Given the description of an element on the screen output the (x, y) to click on. 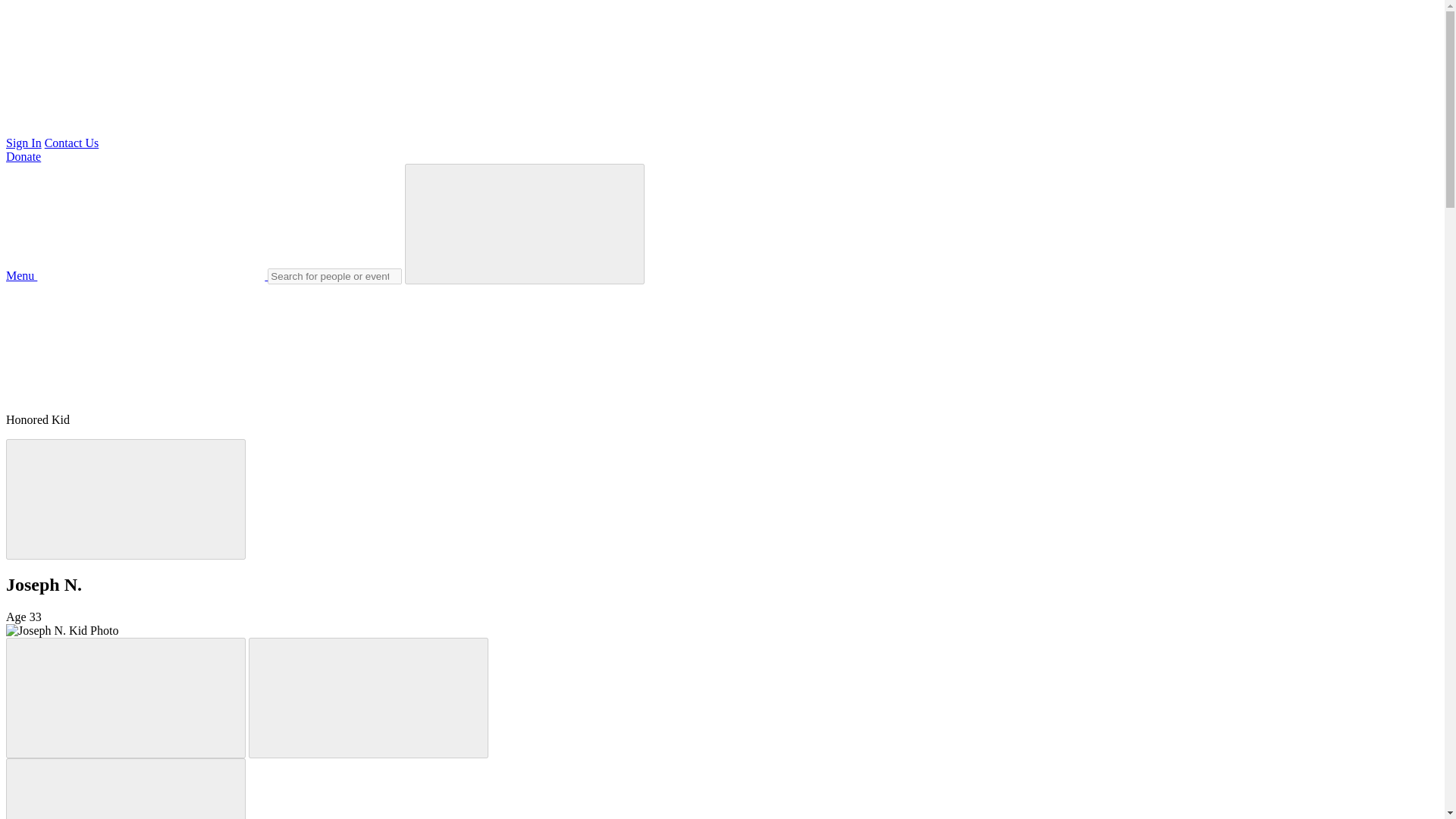
Contact Us (72, 142)
info heart gift pin clock View on Map View Facebook Page (118, 341)
Sign In (23, 142)
Menu (136, 275)
Donate (22, 155)
